Given the description of an element on the screen output the (x, y) to click on. 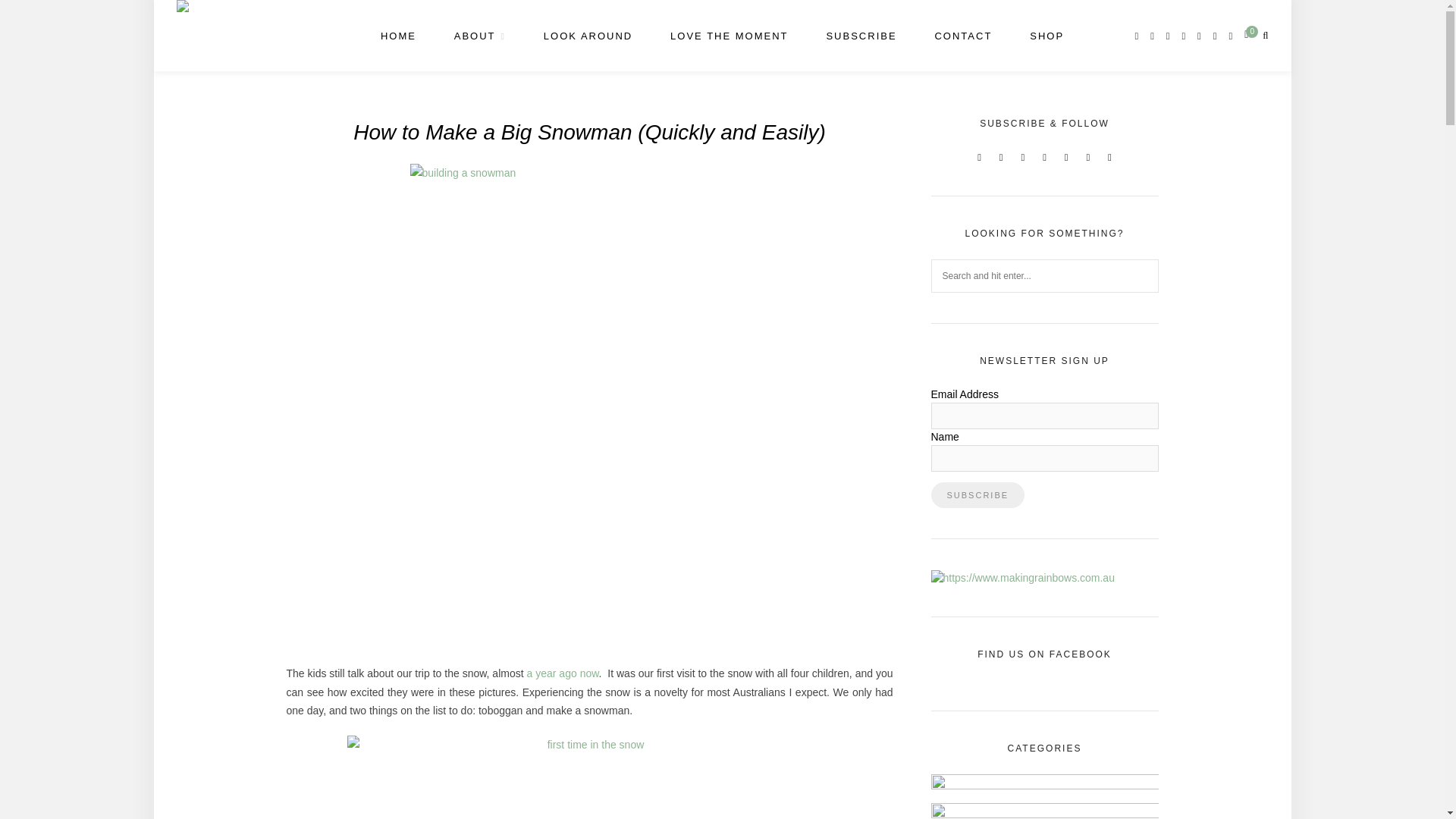
SUBSCRIBE (860, 36)
LOVE THE MOMENT (728, 36)
a year ago now (562, 673)
LOOK AROUND (587, 36)
Subscribe (978, 494)
first time in the snow (589, 777)
